Given the description of an element on the screen output the (x, y) to click on. 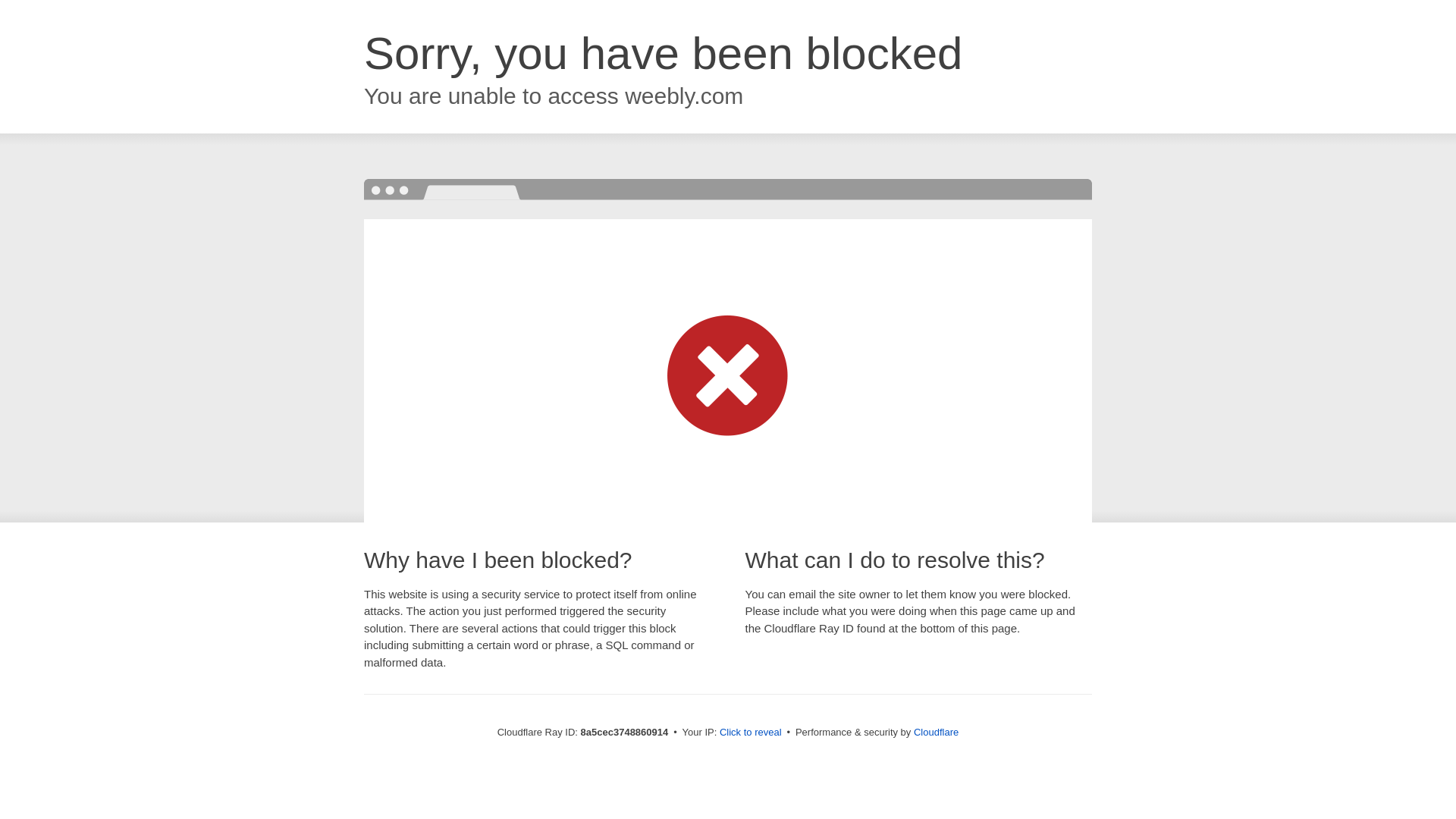
Cloudflare (936, 731)
Click to reveal (750, 732)
